Given the description of an element on the screen output the (x, y) to click on. 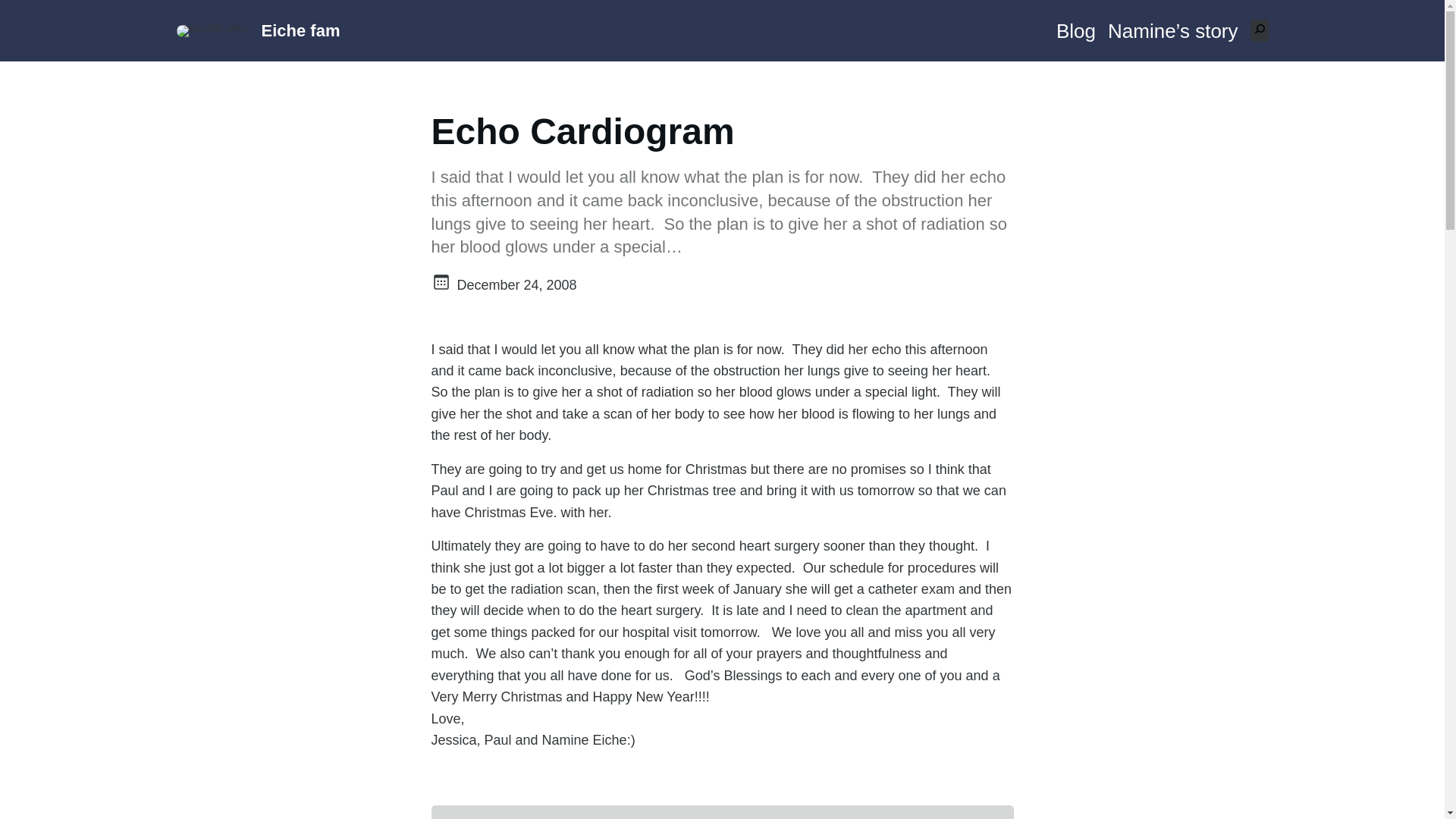
Blog (1076, 30)
Eiche fam (301, 30)
Blog (1076, 30)
